Given the description of an element on the screen output the (x, y) to click on. 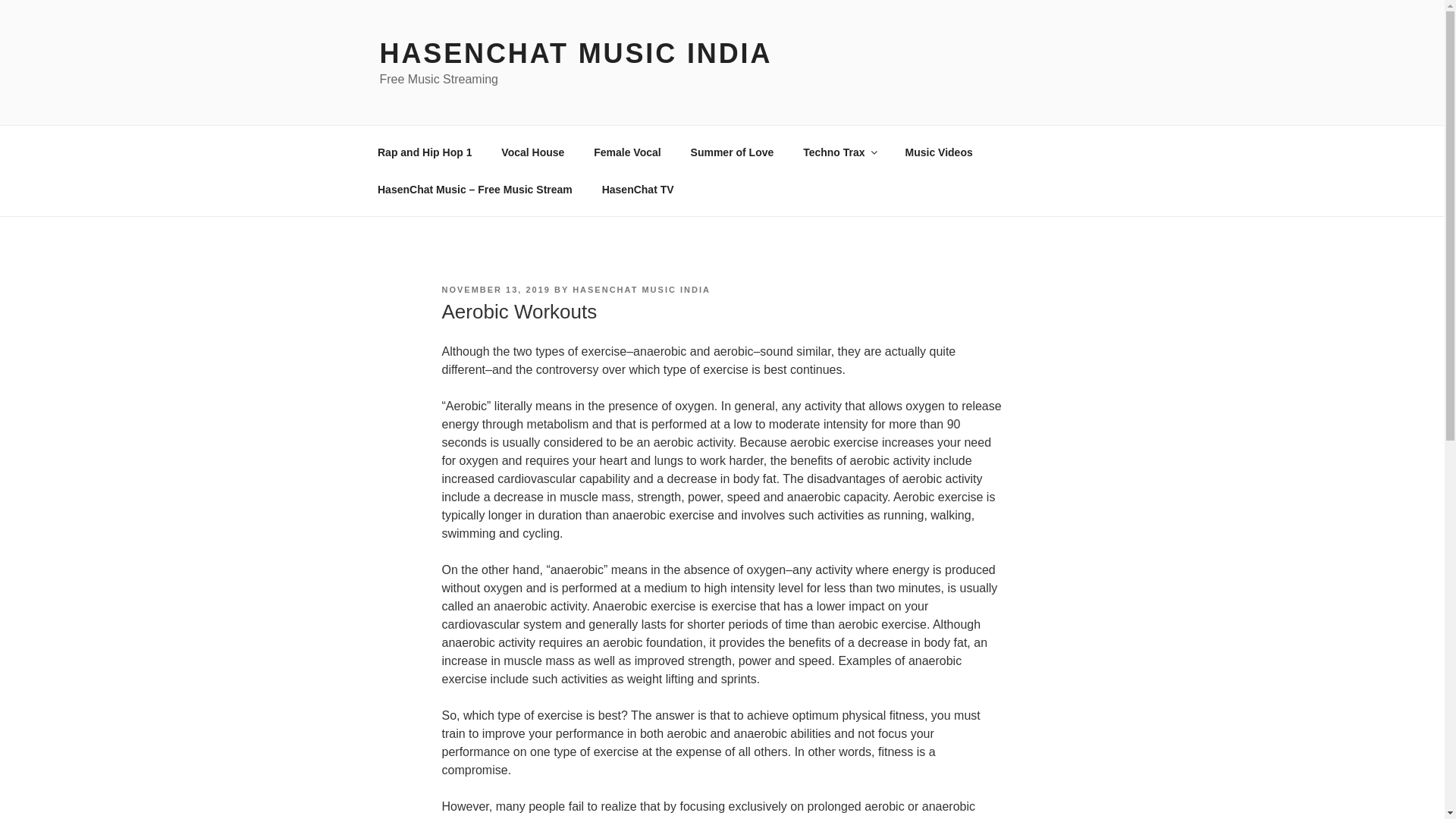
Techno Trax (839, 151)
Female Vocal (627, 151)
NOVEMBER 13, 2019 (495, 289)
HASENCHAT MUSIC INDIA (641, 289)
Rap and Hip Hop 1 (424, 151)
HASENCHAT MUSIC INDIA (574, 52)
Summer of Love (732, 151)
HasenChat TV (637, 189)
Music Videos (938, 151)
Vocal House (532, 151)
